Given the description of an element on the screen output the (x, y) to click on. 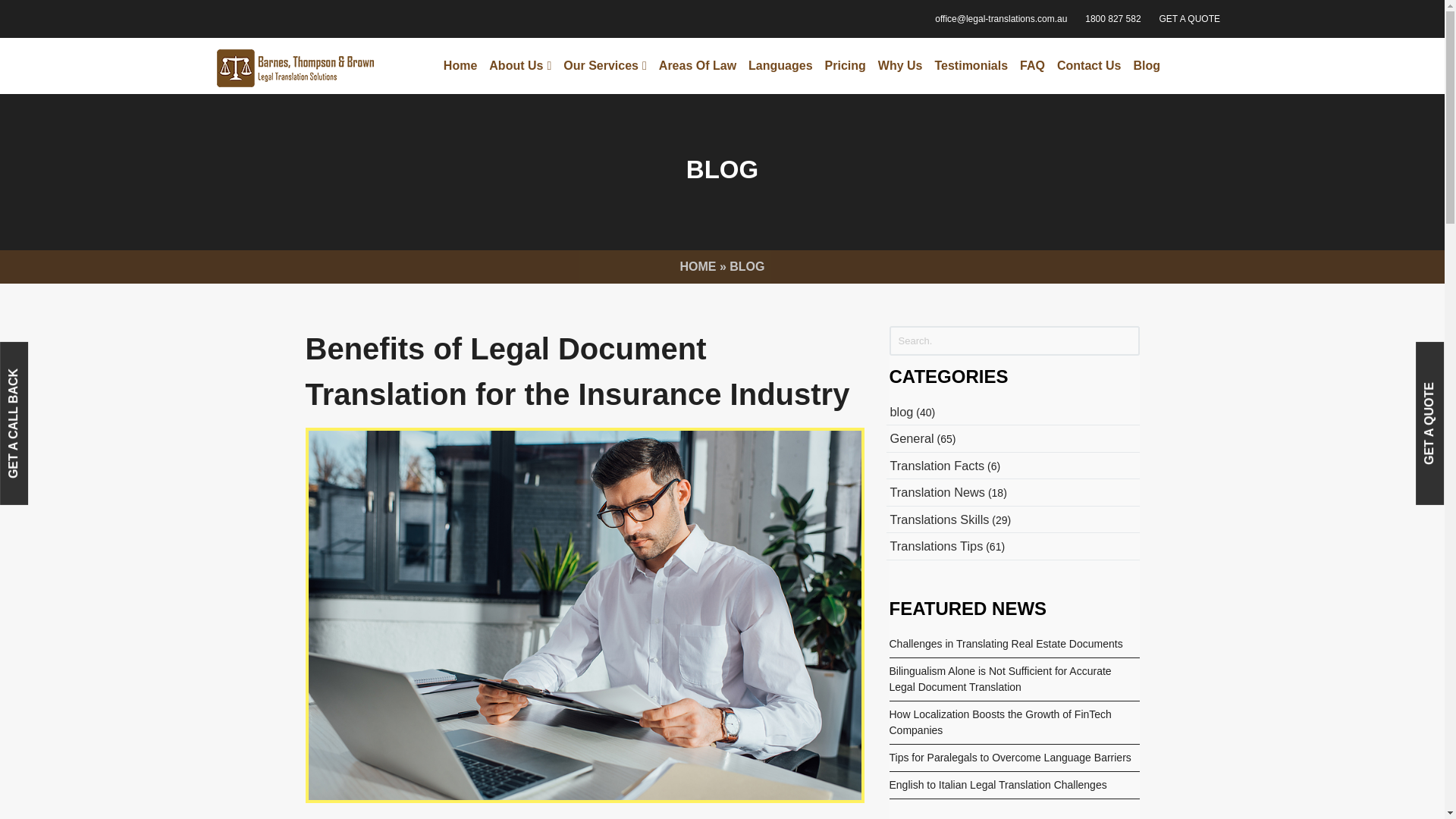
Areas Of Law (697, 65)
1800 827 582 (1112, 18)
Testimonials (970, 65)
Contact Us (1088, 65)
HOME (697, 266)
About Us (520, 65)
Languages (780, 65)
Our Services (604, 65)
Pricing (845, 65)
